Given the description of an element on the screen output the (x, y) to click on. 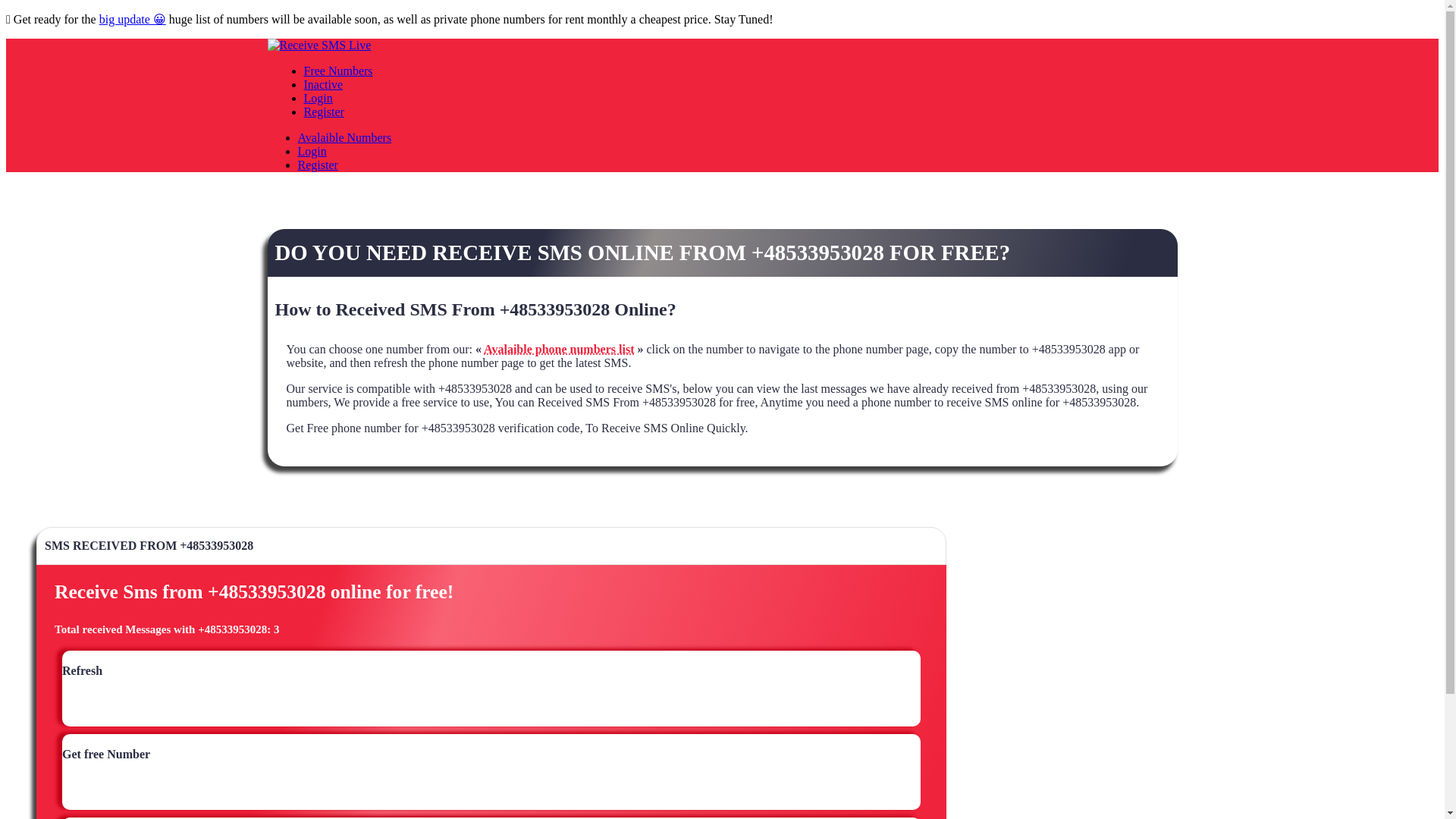
Free Numbers (337, 70)
Register (317, 164)
Login (316, 97)
Get free Number (105, 760)
Login (311, 151)
Inactive (322, 83)
Refresh (81, 677)
Avalaible Numbers (344, 137)
Register (322, 111)
Avalaible phone numbers list (558, 349)
